Given the description of an element on the screen output the (x, y) to click on. 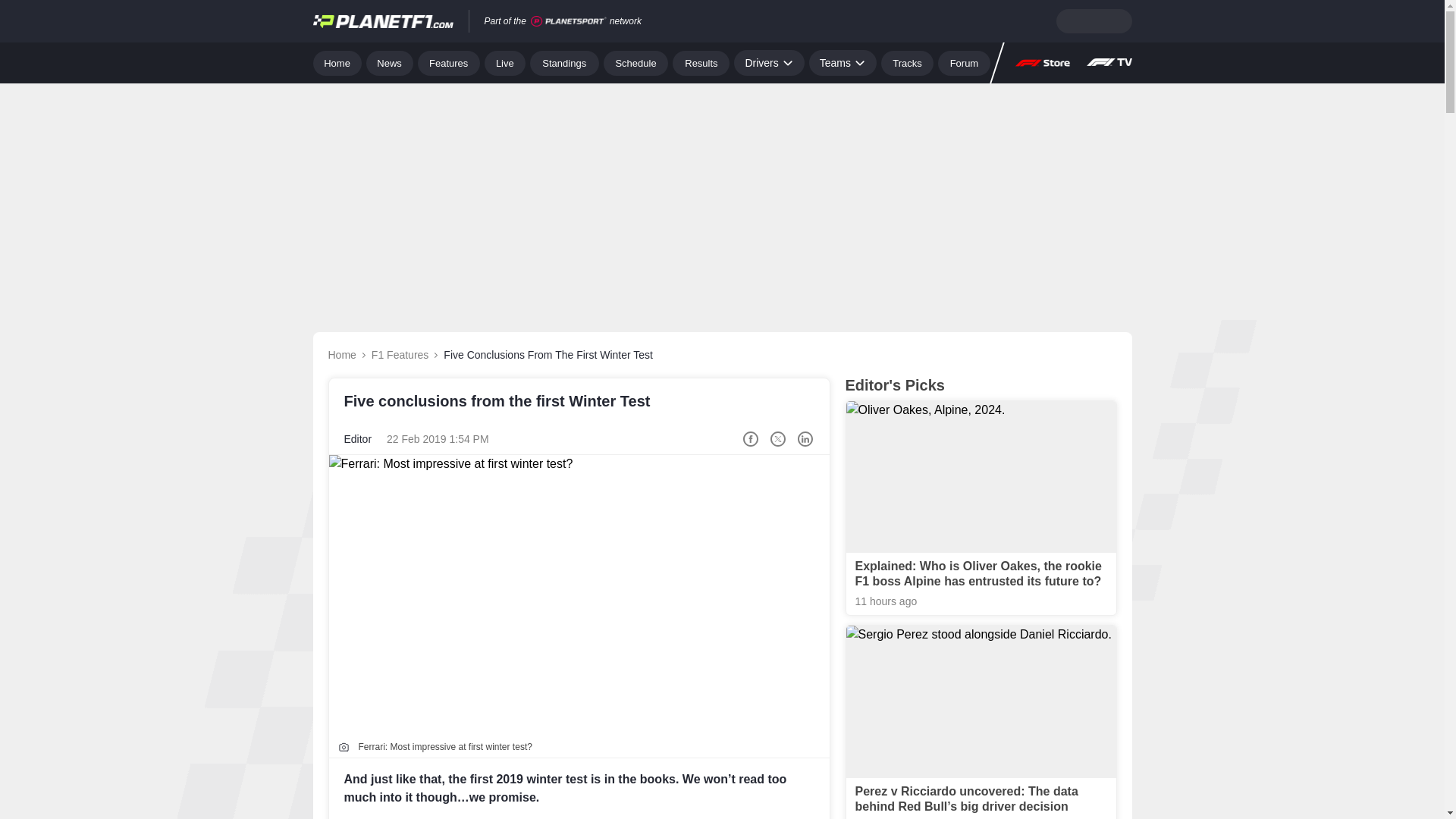
Live (504, 62)
Teams (842, 62)
Home (337, 62)
News (389, 62)
Schedule (636, 62)
Features (448, 62)
Results (700, 62)
Standings (563, 62)
Drivers (768, 62)
